Given the description of an element on the screen output the (x, y) to click on. 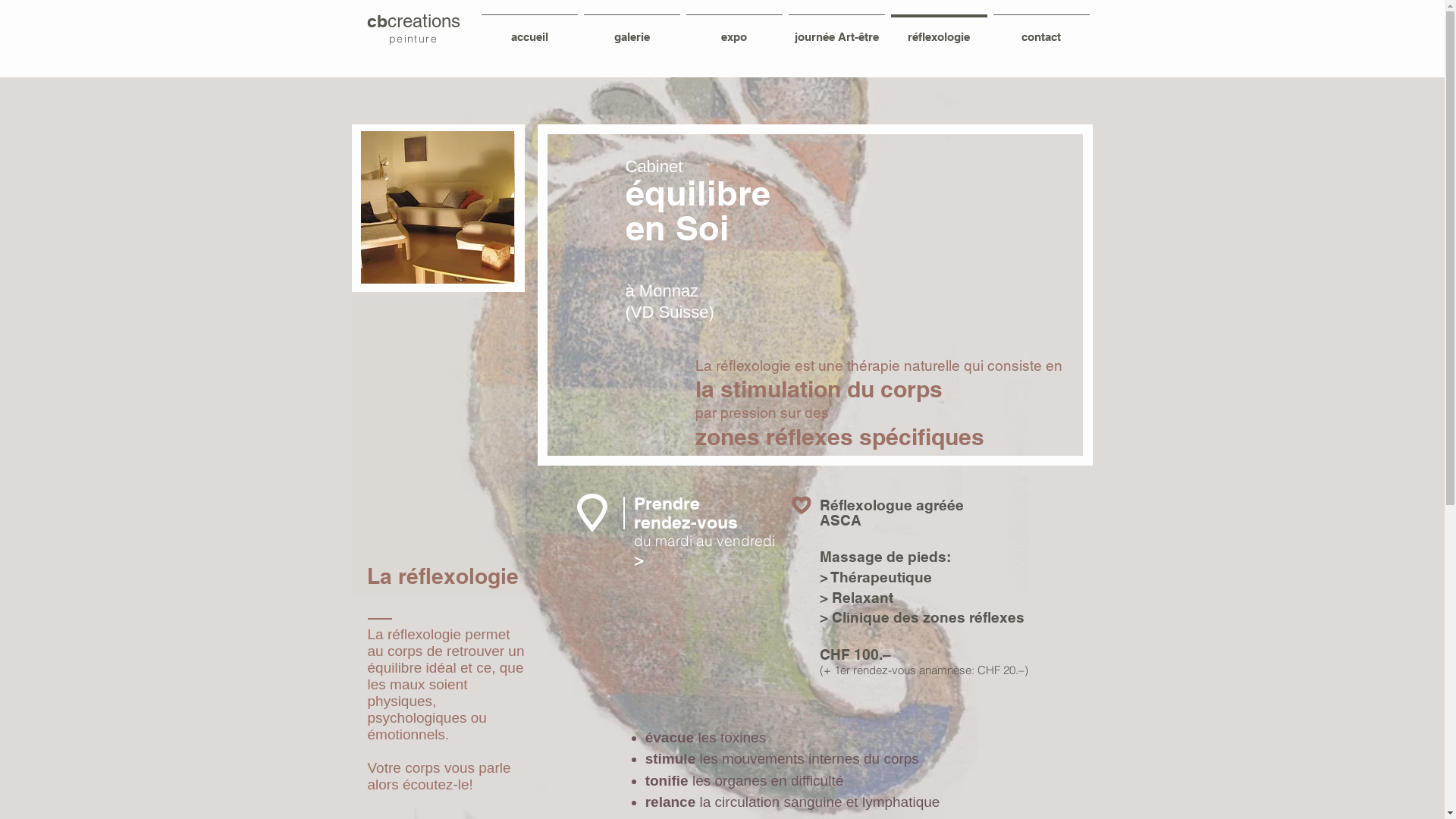
galerie Element type: text (631, 29)
contact Element type: text (1041, 29)
Prendre Element type: text (666, 504)
expo Element type: text (733, 29)
cbcreations Element type: text (413, 20)
accueil Element type: text (528, 29)
peinture Element type: text (413, 38)
rendez-vous
du mardi au vendredi
> Element type: text (704, 541)
